Given the description of an element on the screen output the (x, y) to click on. 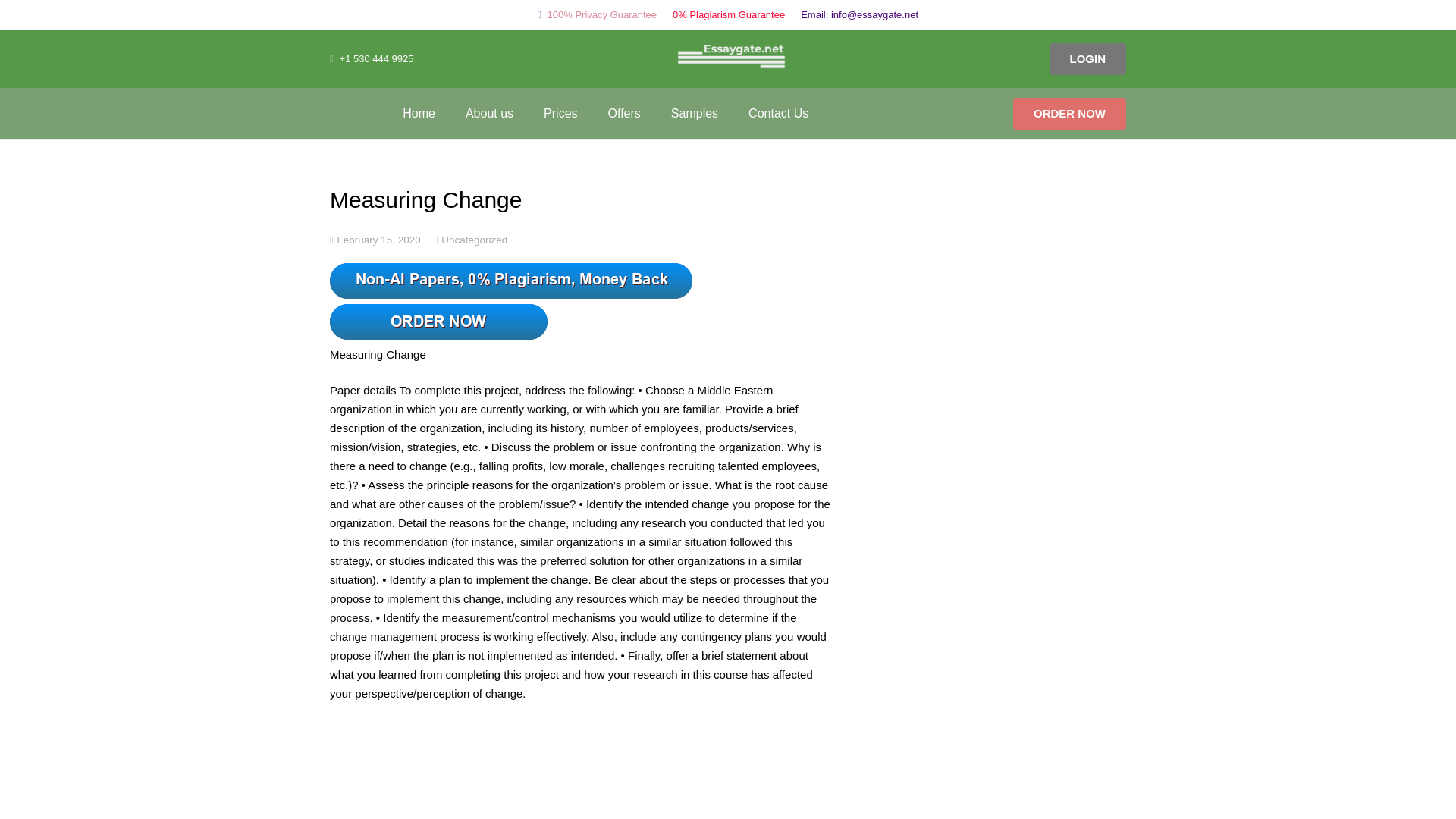
Contact Us (778, 112)
Samples (694, 112)
Home (418, 112)
Prices (560, 112)
ORDER NOW (1069, 112)
Offers (624, 112)
About us (488, 112)
Uncategorized (473, 238)
LOGIN (1087, 59)
